Given the description of an element on the screen output the (x, y) to click on. 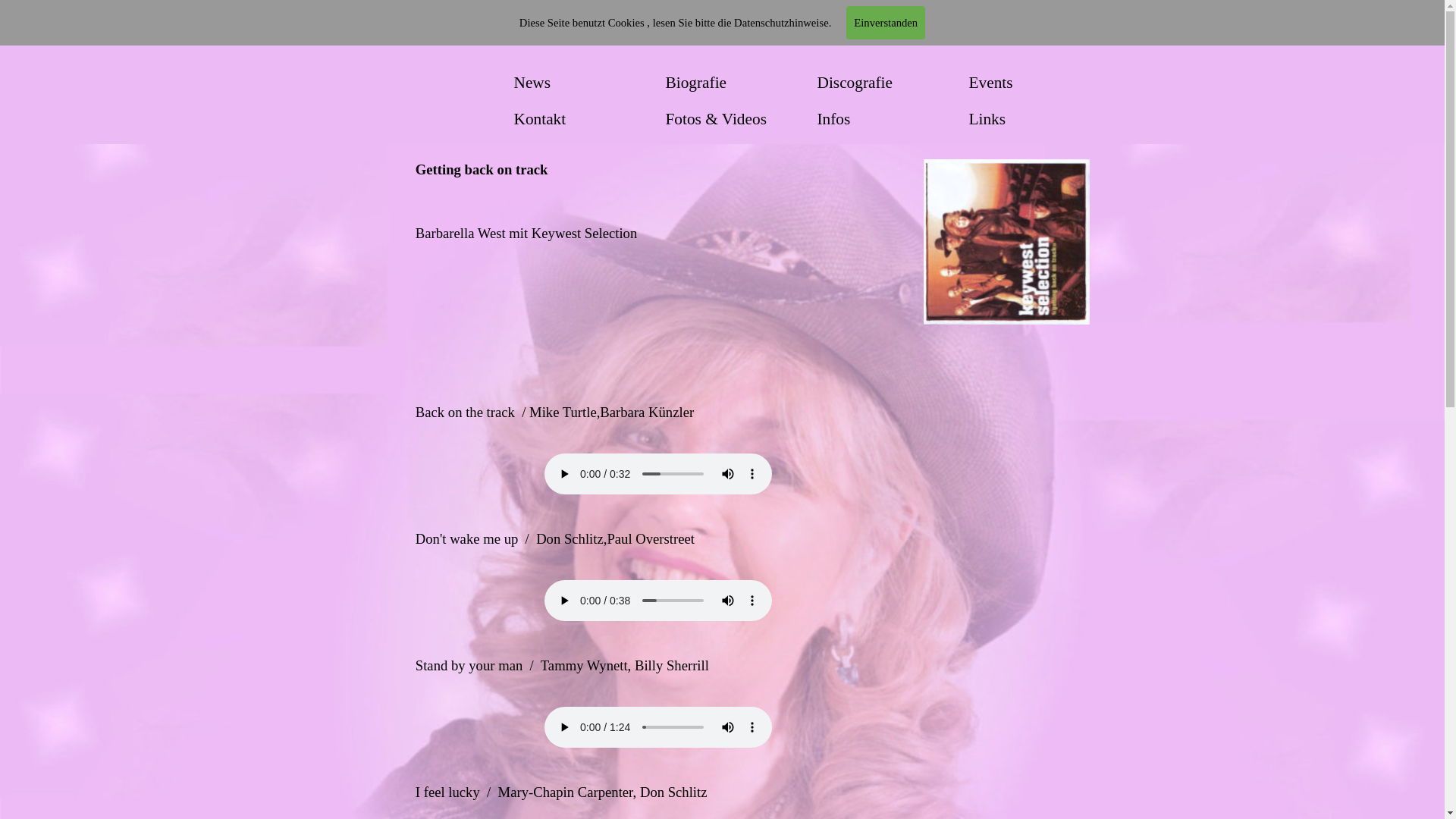
Events Element type: text (1041, 82)
News Element type: text (586, 82)
Kontakt Element type: text (586, 118)
Biografie Element type: text (737, 82)
